Given the description of an element on the screen output the (x, y) to click on. 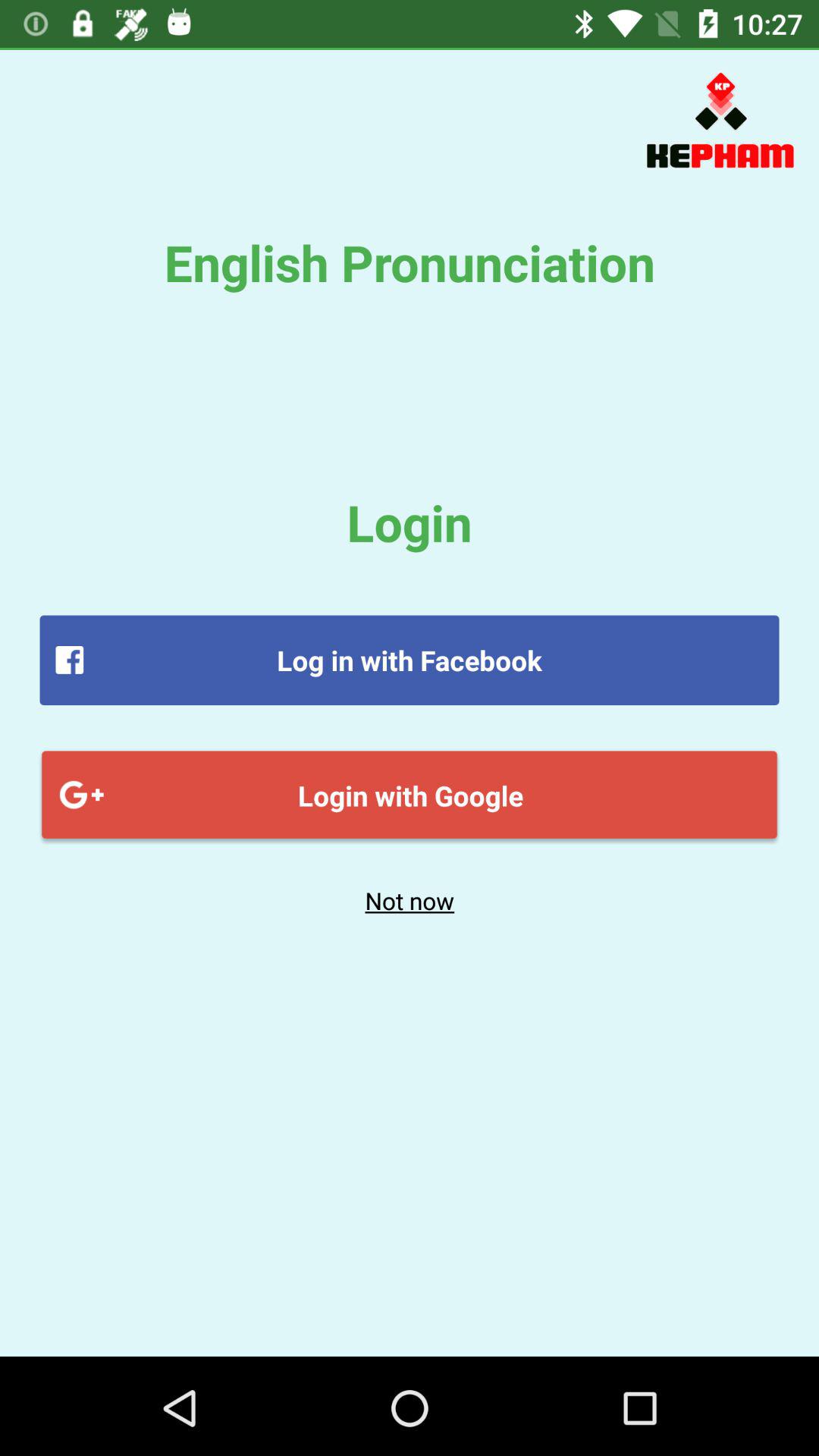
swipe until the not now item (409, 900)
